Given the description of an element on the screen output the (x, y) to click on. 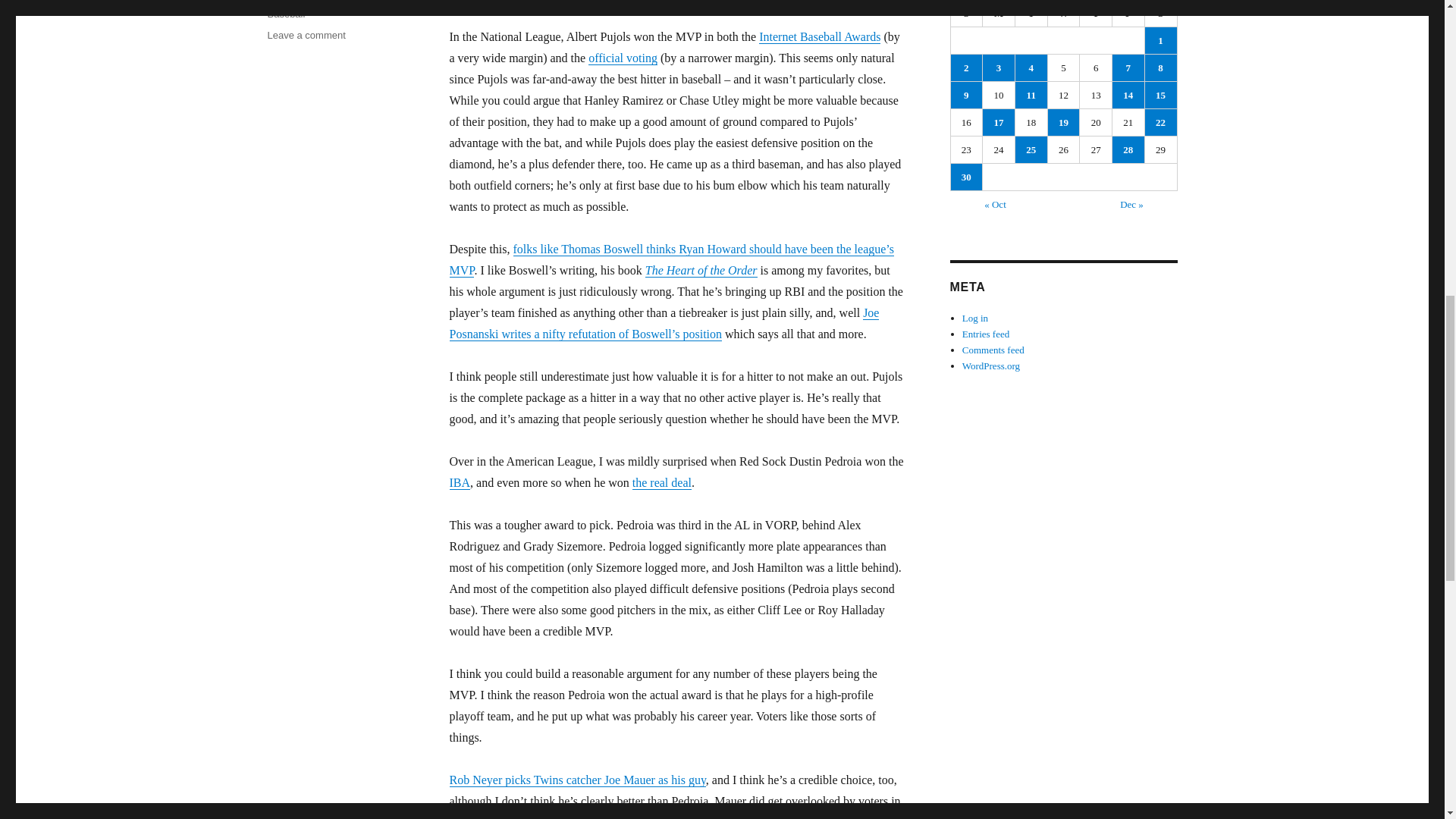
15 (1160, 94)
14 (1128, 94)
Rob Neyer picks Twins catcher Joe Mauer as his guy (576, 779)
Internet Baseball Awards (819, 36)
Saturday (1160, 13)
8 (1160, 67)
Baseball (285, 13)
Tuesday (1031, 13)
IBA (459, 481)
7 (1128, 67)
1 (1160, 40)
19 (1064, 121)
the real deal (661, 481)
25 (1030, 149)
Thursday (1096, 13)
